Given the description of an element on the screen output the (x, y) to click on. 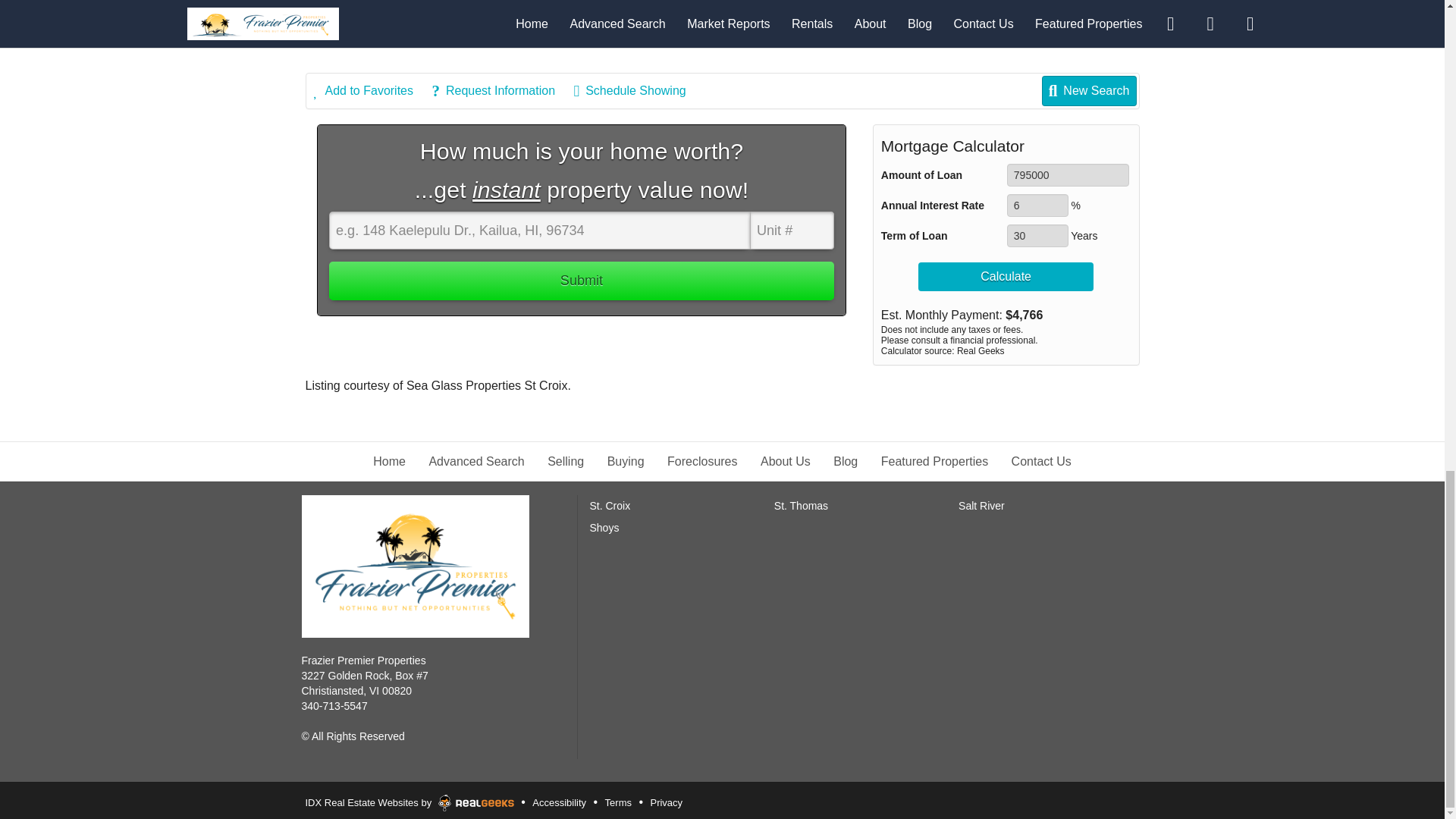
795000 (1068, 174)
30 (1037, 235)
6 (1037, 205)
